Given the description of an element on the screen output the (x, y) to click on. 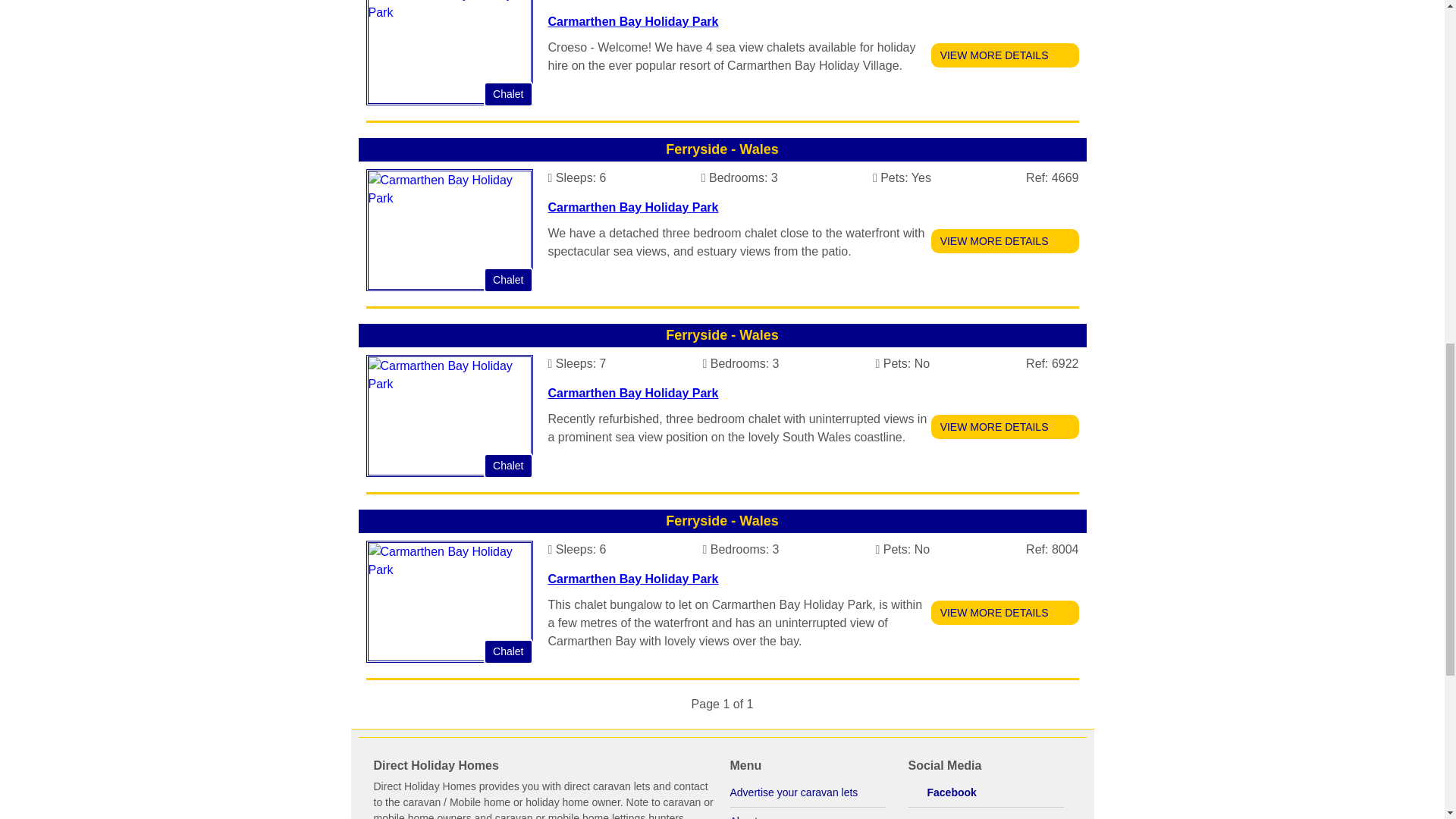
VIEW MORE DETAILS (1004, 241)
Carmarthen Bay Holiday Park (632, 578)
Advertise your caravan lets (807, 792)
Carmarthen Bay Holiday Park (632, 392)
Carmarthen Bay Holiday Park (632, 21)
VIEW MORE DETAILS (1004, 426)
VIEW MORE DETAILS (1004, 612)
About us (807, 813)
Carmarthen Bay Holiday Park (632, 206)
VIEW MORE DETAILS (1004, 55)
